Given the description of an element on the screen output the (x, y) to click on. 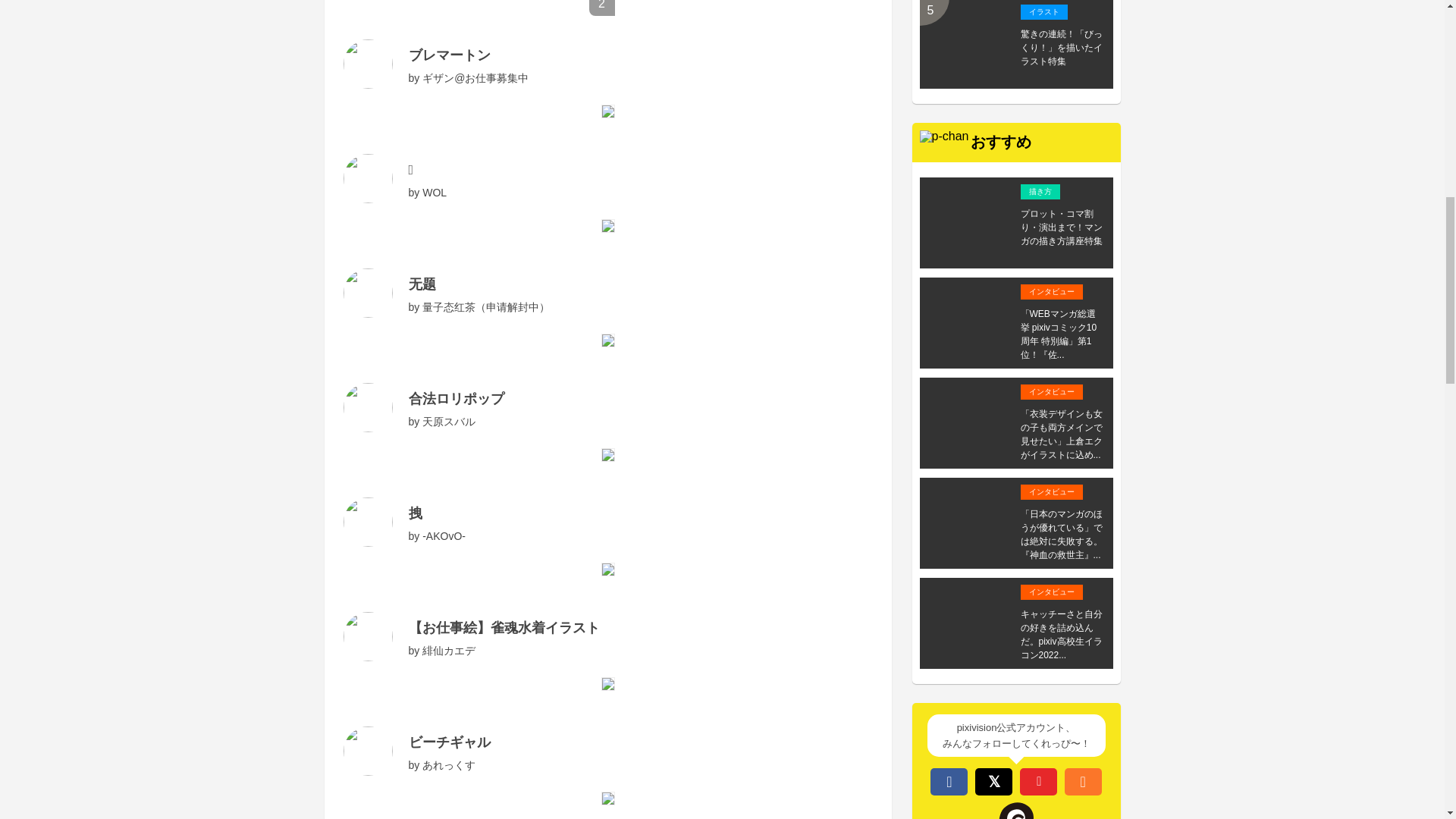
WOL (434, 192)
2 (606, 2)
